Given the description of an element on the screen output the (x, y) to click on. 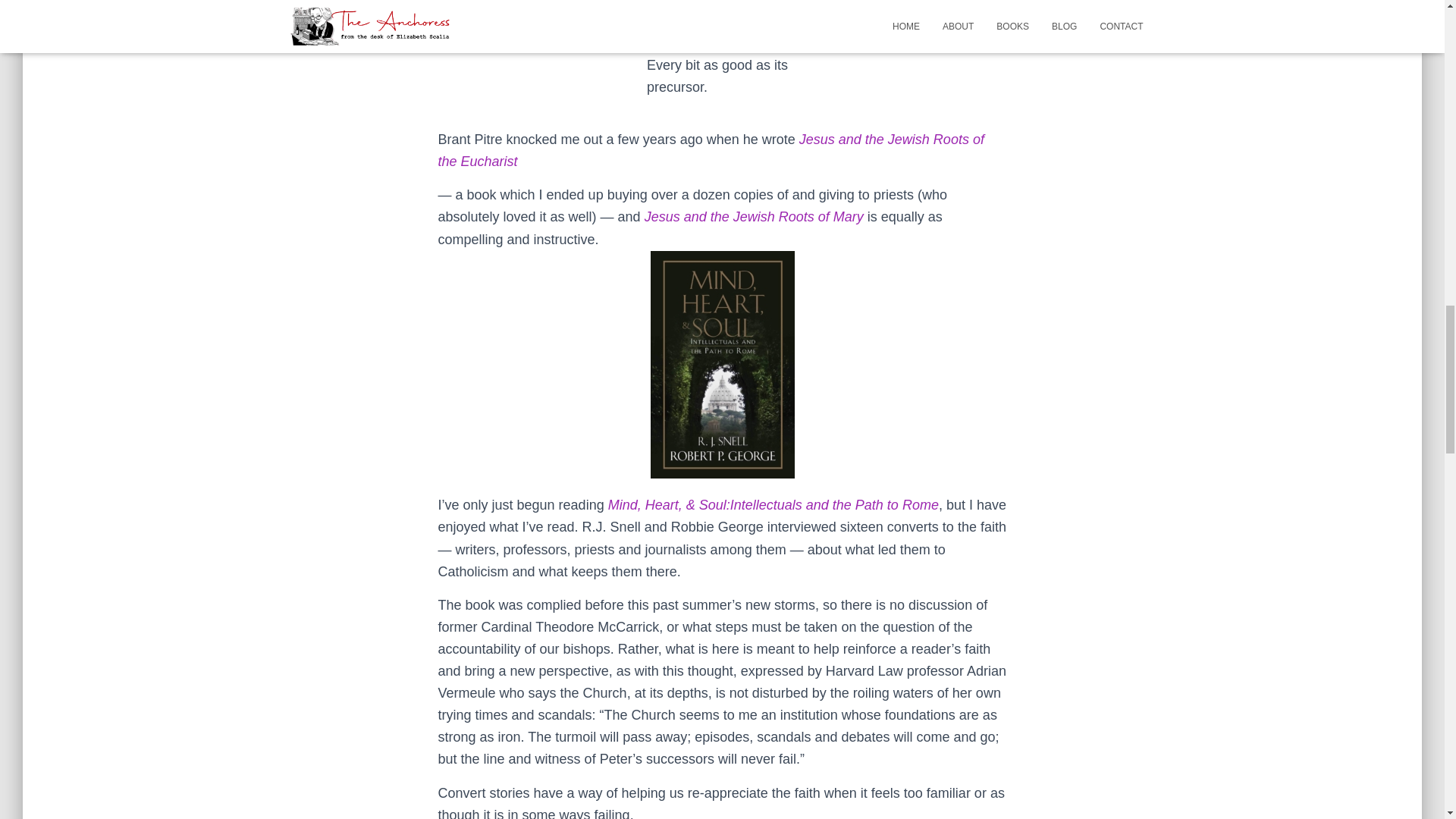
Jesus and the Jewish Roots of Mary (754, 216)
Jesus and the Jewish Roots of the Eucharist (711, 149)
